Given the description of an element on the screen output the (x, y) to click on. 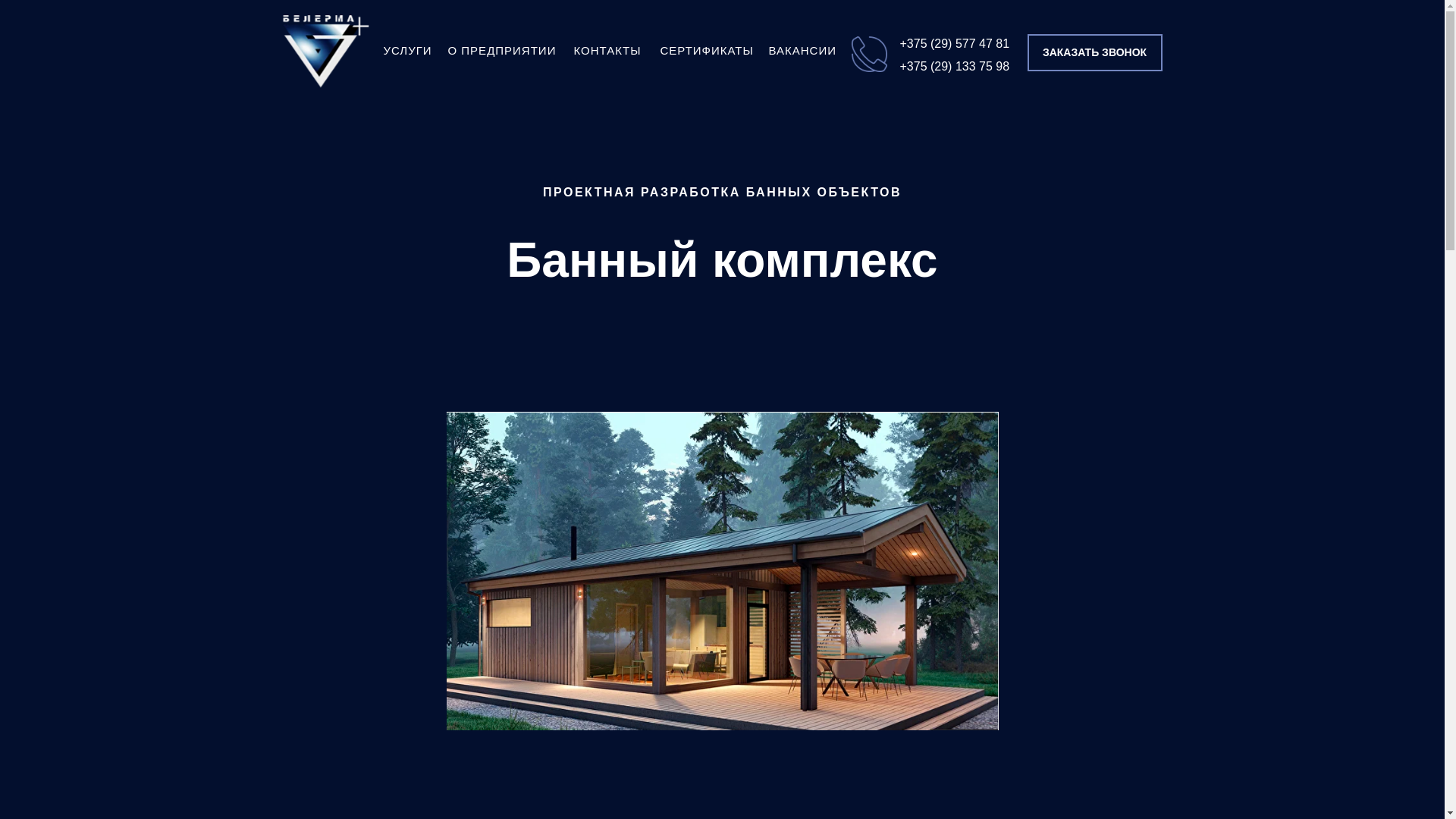
+375 (29) 577 47 81 Element type: text (954, 43)
+375 (29) 133 75 98 Element type: text (954, 65)
